Given the description of an element on the screen output the (x, y) to click on. 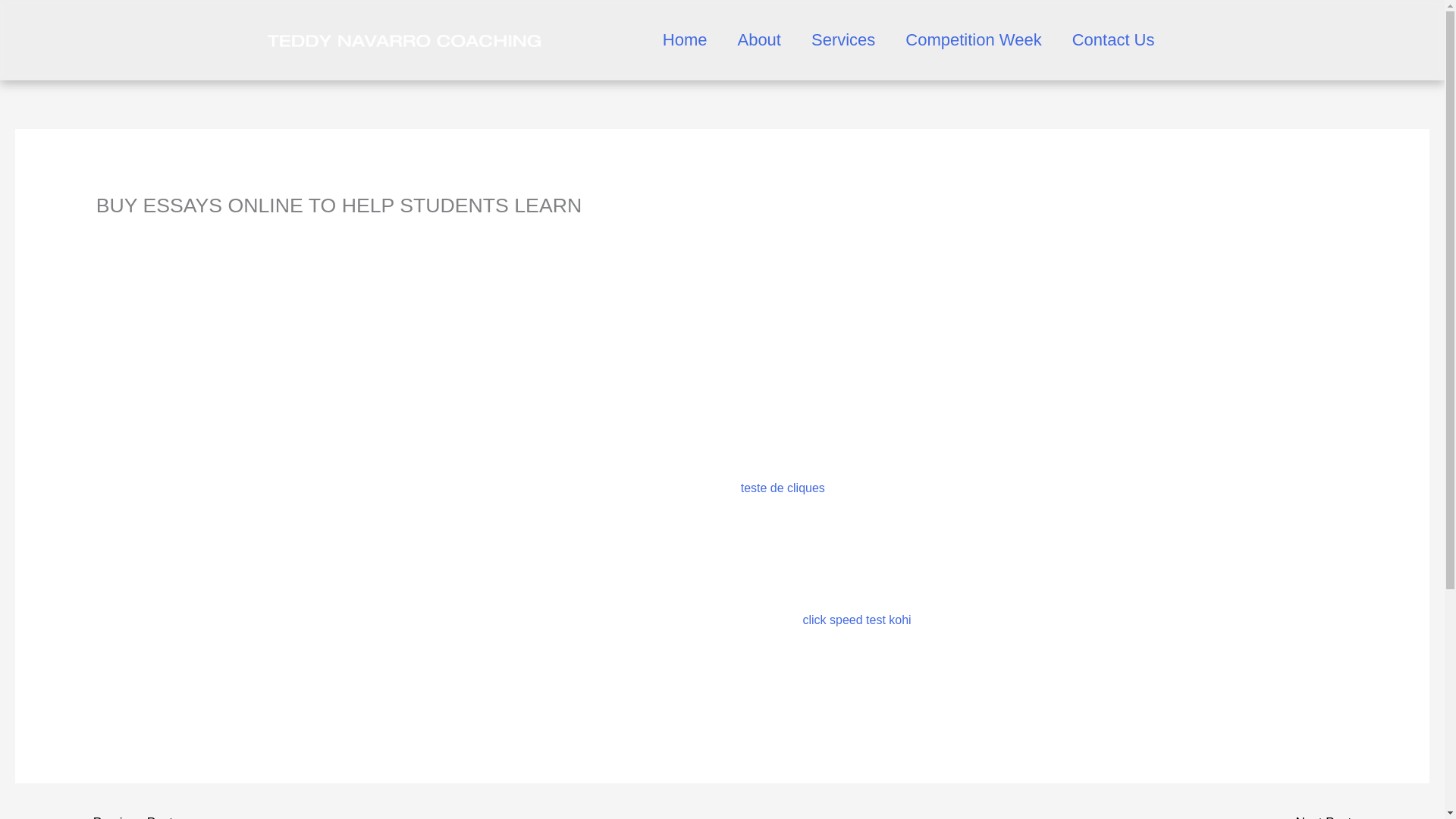
View all posts by navarro.teddy (239, 230)
Competition Week (973, 39)
Contact Us (1113, 39)
Services (842, 39)
navarro.teddy (239, 230)
Home (684, 39)
click speed test kohi (856, 619)
About (759, 39)
teste de cliques (783, 487)
Uncategorized (135, 230)
